Given the description of an element on the screen output the (x, y) to click on. 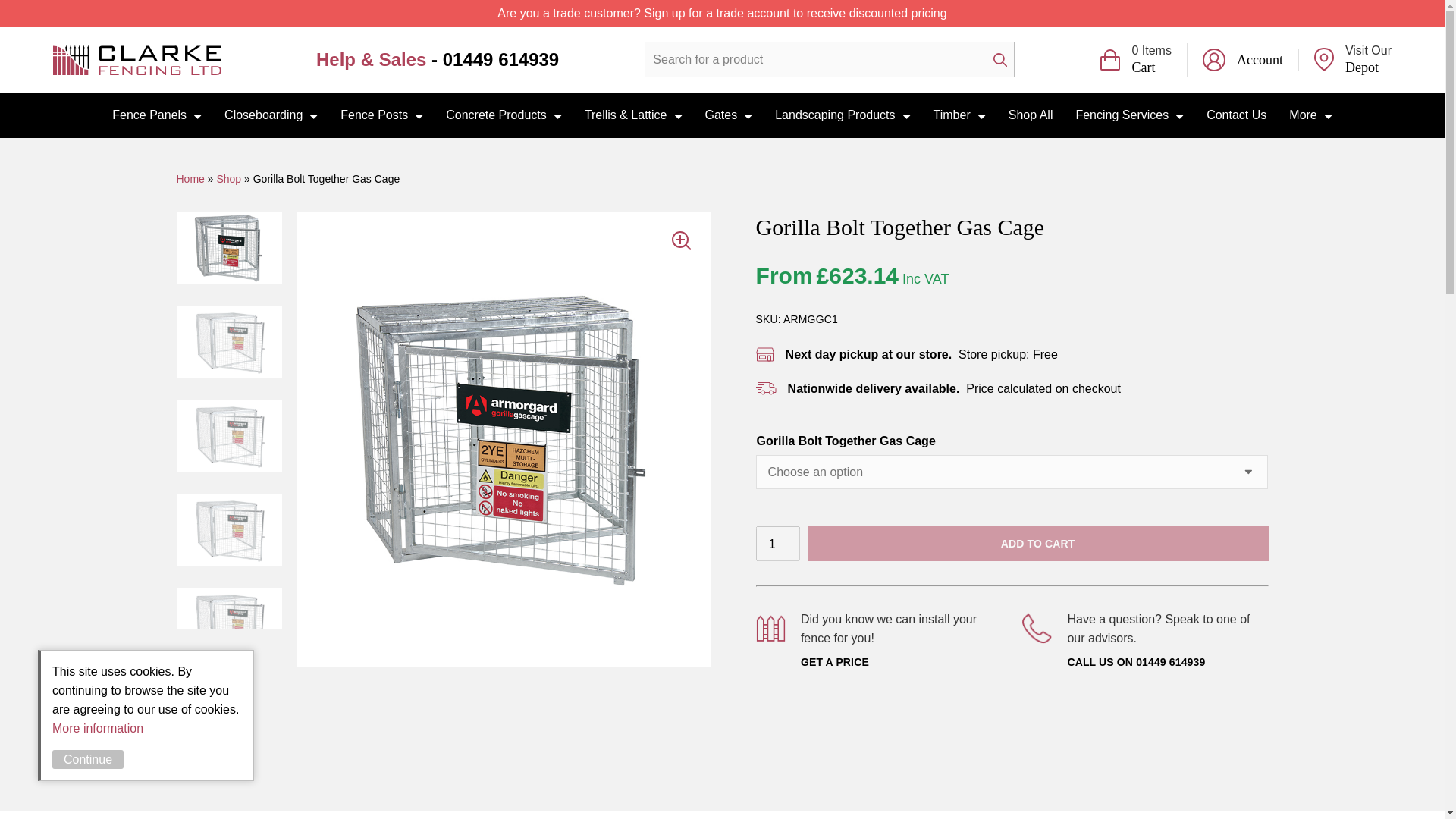
Account (1250, 59)
Clarke Fencing (136, 59)
Fence Posts (381, 115)
Closeboarding (270, 115)
Qty (777, 543)
Fence Panels (156, 115)
Concrete Products (1352, 59)
1 (503, 115)
